Given the description of an element on the screen output the (x, y) to click on. 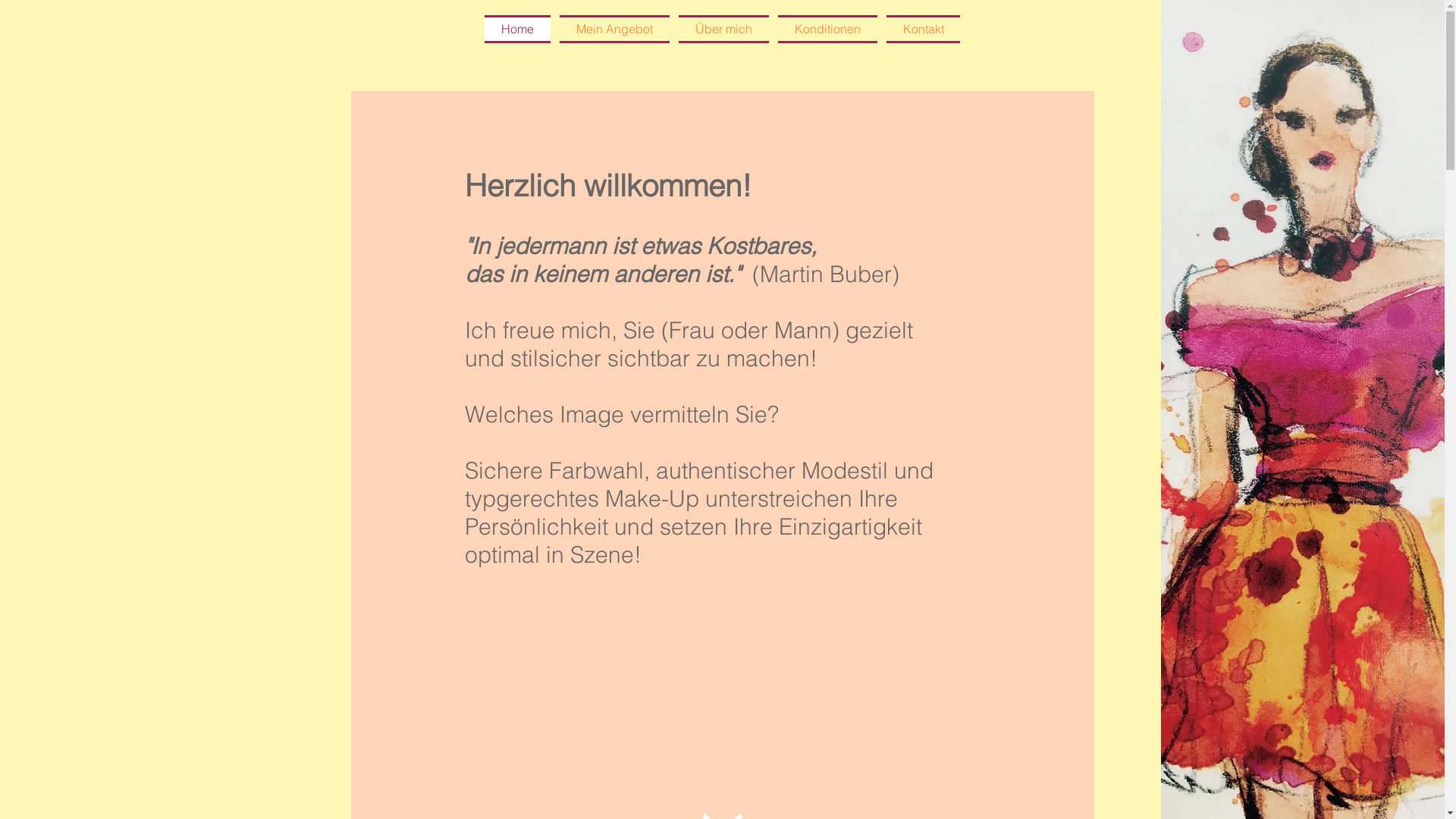
Home Element type: text (519, 29)
Mein Angebot Element type: text (614, 29)
Kontakt Element type: text (920, 29)
Konditionen Element type: text (827, 29)
